Given the description of an element on the screen output the (x, y) to click on. 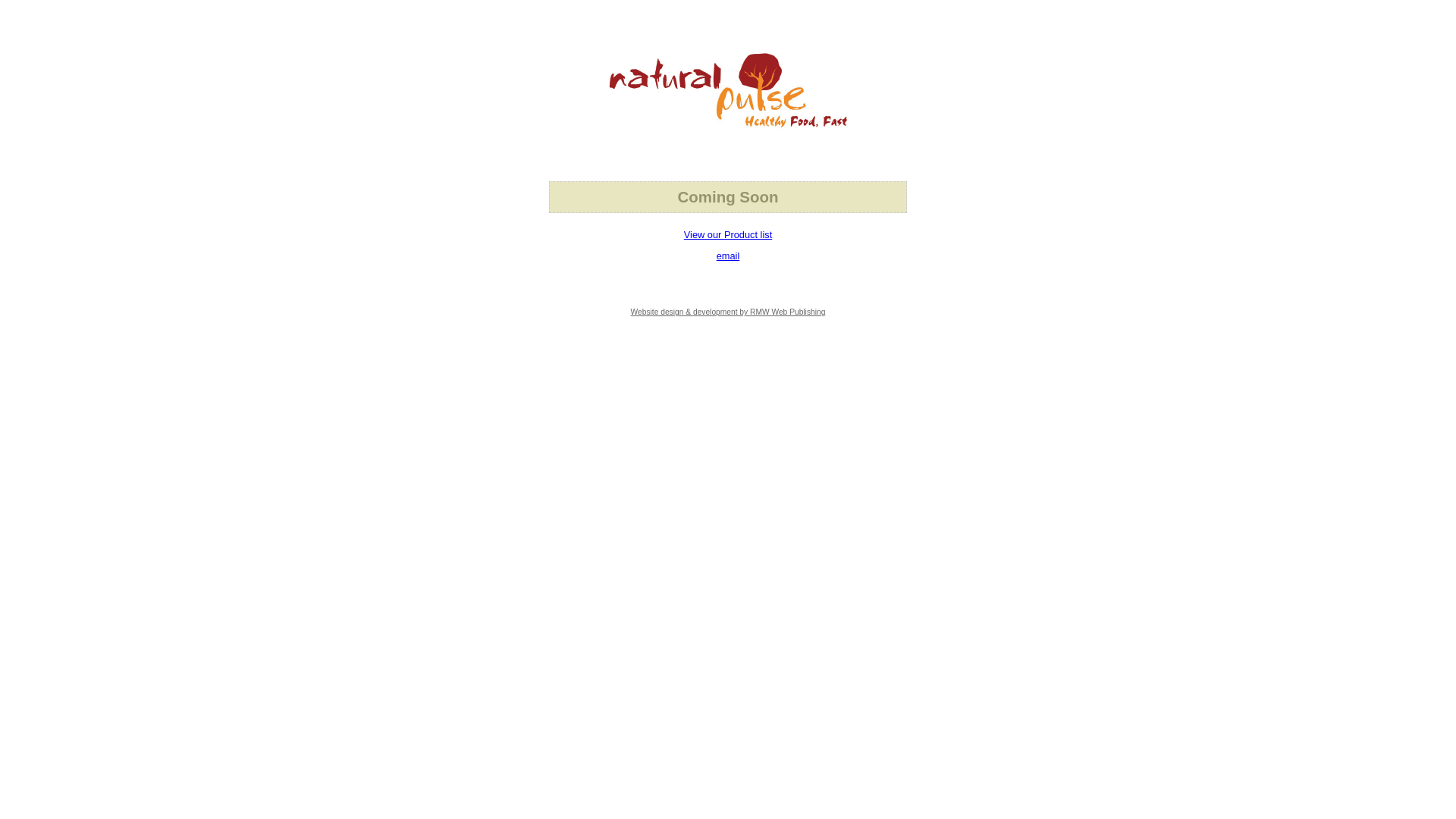
Website design & development by RMW Web Publishing Element type: text (727, 311)
email Element type: text (728, 255)
View our Product list Element type: text (727, 234)
